Given the description of an element on the screen output the (x, y) to click on. 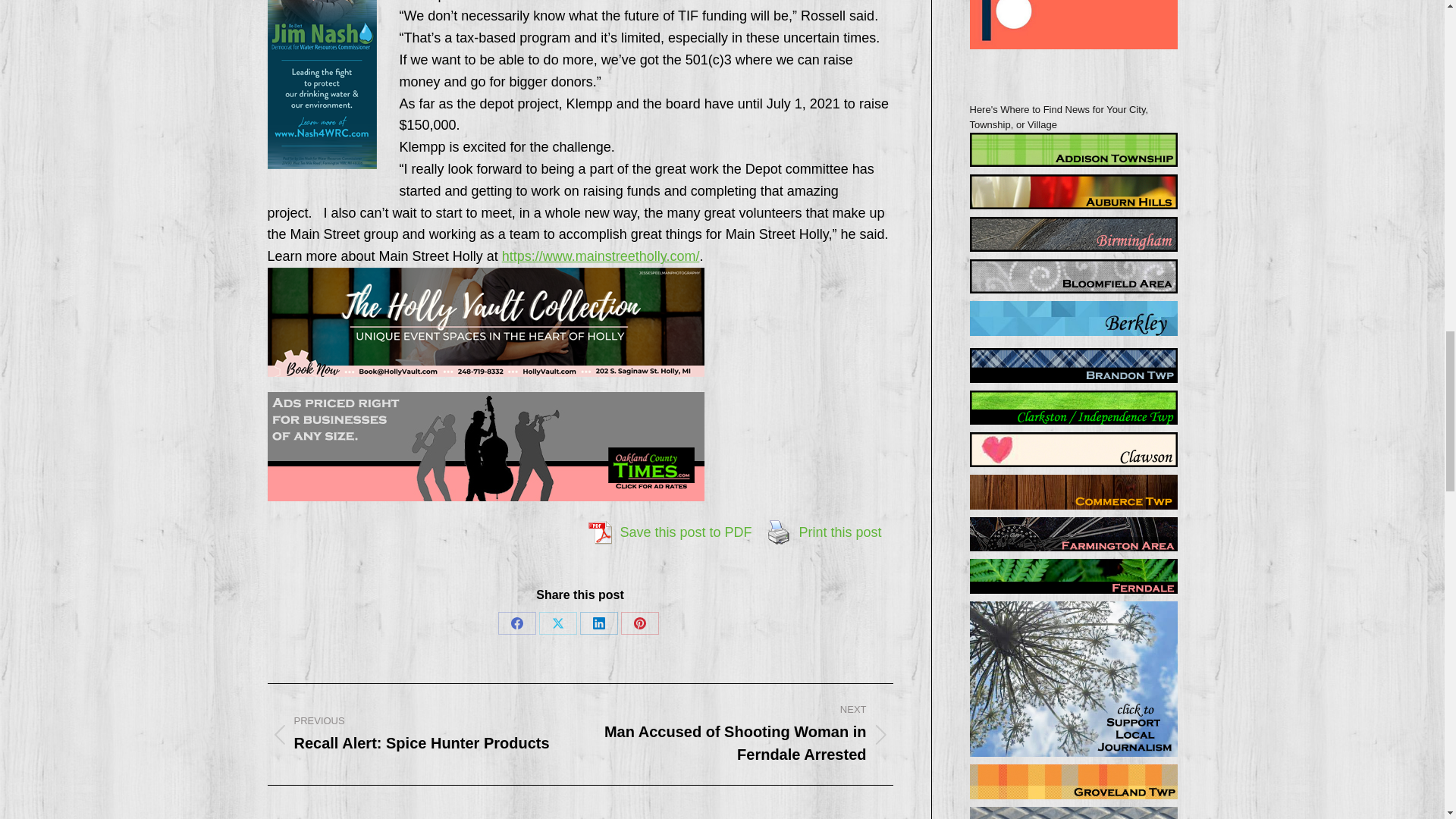
Facebook (516, 622)
X (557, 622)
Print Content (778, 531)
LinkedIn (598, 622)
View PDF (599, 531)
